Given the description of an element on the screen output the (x, y) to click on. 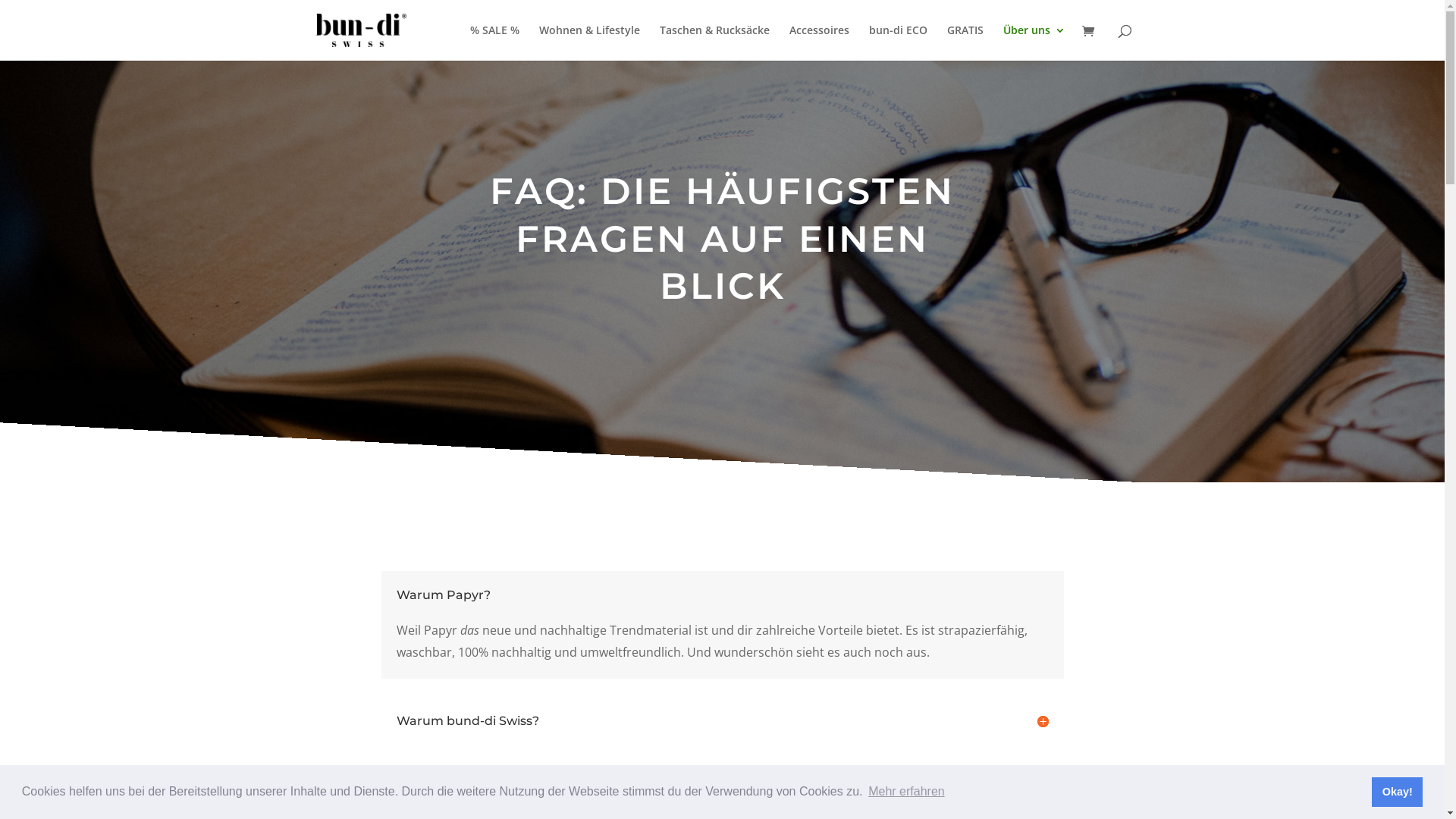
Accessoires Element type: text (818, 42)
% SALE % Element type: text (494, 42)
bun-di ECO Element type: text (898, 42)
Mehr erfahren Element type: text (906, 791)
Wohnen & Lifestyle Element type: text (588, 42)
Okay! Element type: text (1396, 791)
GRATIS Element type: text (964, 42)
